Given the description of an element on the screen output the (x, y) to click on. 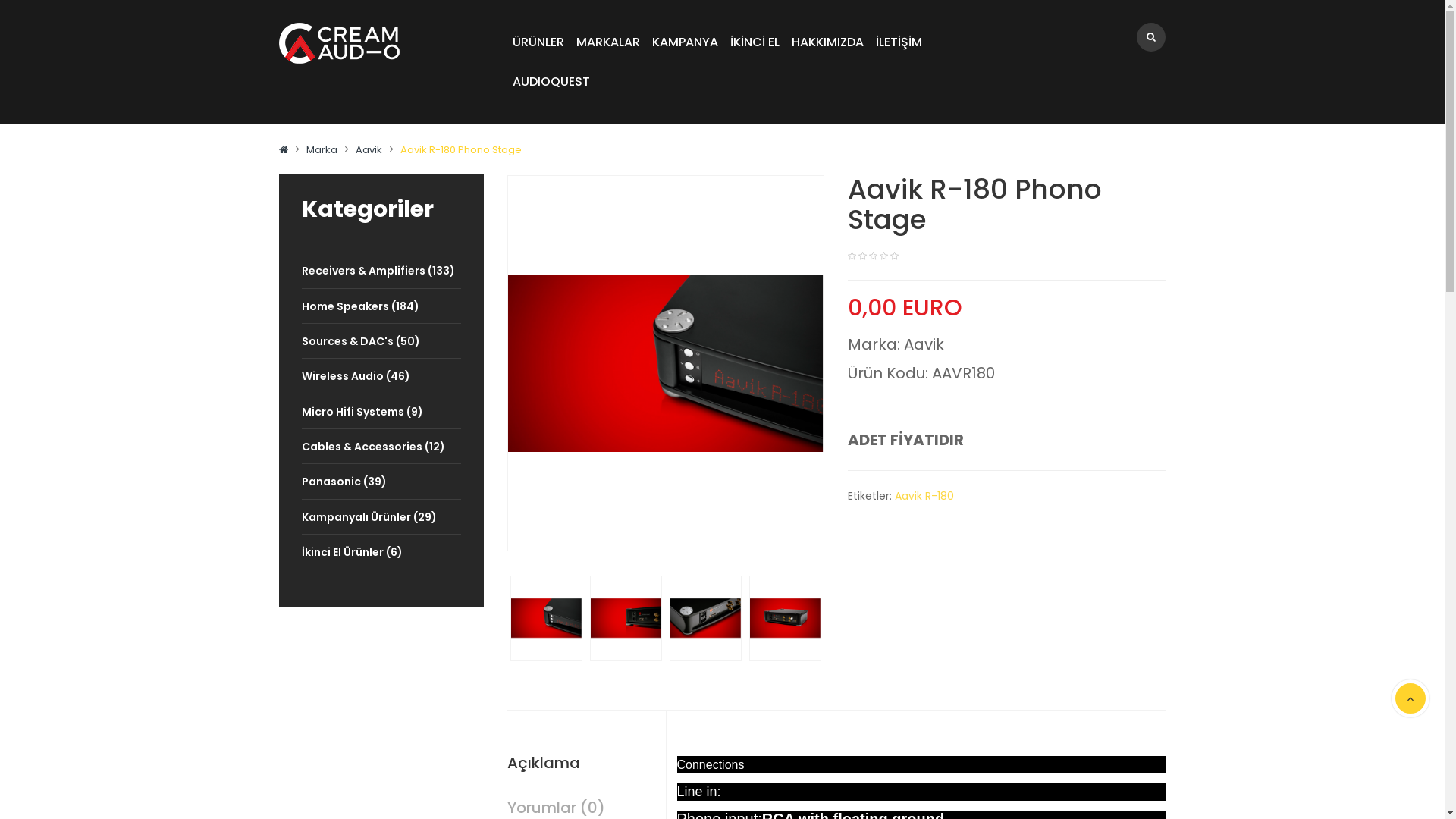
Aavik R-180 Phono Stage Element type: hover (785, 617)
Aavik R-180 Phono Stage Element type: hover (625, 616)
Aavik R-180 Phono Stage Element type: hover (664, 362)
AUDIOQUEST Element type: text (551, 81)
Home Speakers (184) Element type: text (381, 305)
Aavik R-180 Phono Stage Element type: text (460, 149)
Cream Audio Element type: hover (339, 42)
Aavik R-180 Phono Stage Element type: hover (625, 617)
Marka Element type: text (321, 149)
Cables & Accessories (12) Element type: text (381, 446)
MARKALAR Element type: text (608, 42)
Panasonic (39) Element type: text (381, 480)
Wireless Audio (46) Element type: text (381, 375)
Aavik Element type: text (923, 343)
HAKKIMIZDA Element type: text (827, 42)
Sources & DAC's (50) Element type: text (381, 340)
Receivers & Amplifiers (133) Element type: text (381, 270)
Aavik R-180 Element type: text (923, 495)
KAMPANYA Element type: text (685, 42)
Aavik R-180 Phono Stage Element type: hover (545, 616)
Aavik Element type: text (367, 149)
Aavik R-180 Phono Stage Element type: hover (704, 617)
Aavik R-180 Phono Stage Element type: hover (704, 616)
Aavik R-180 Phono Stage Element type: hover (545, 617)
Aavik R-180 Phono Stage Element type: hover (785, 616)
Micro Hifi Systems (9) Element type: text (381, 411)
